Given the description of an element on the screen output the (x, y) to click on. 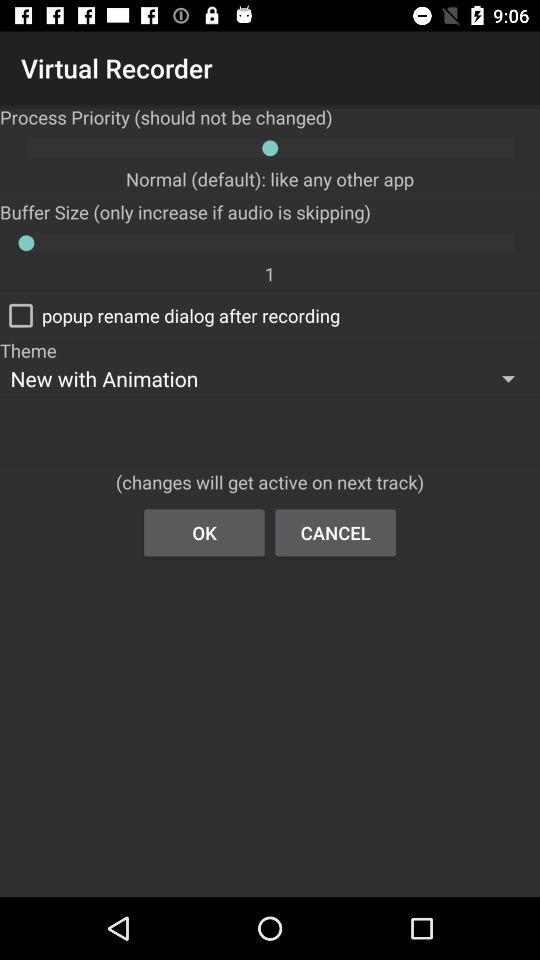
select the icon to the right of ok icon (335, 532)
